Given the description of an element on the screen output the (x, y) to click on. 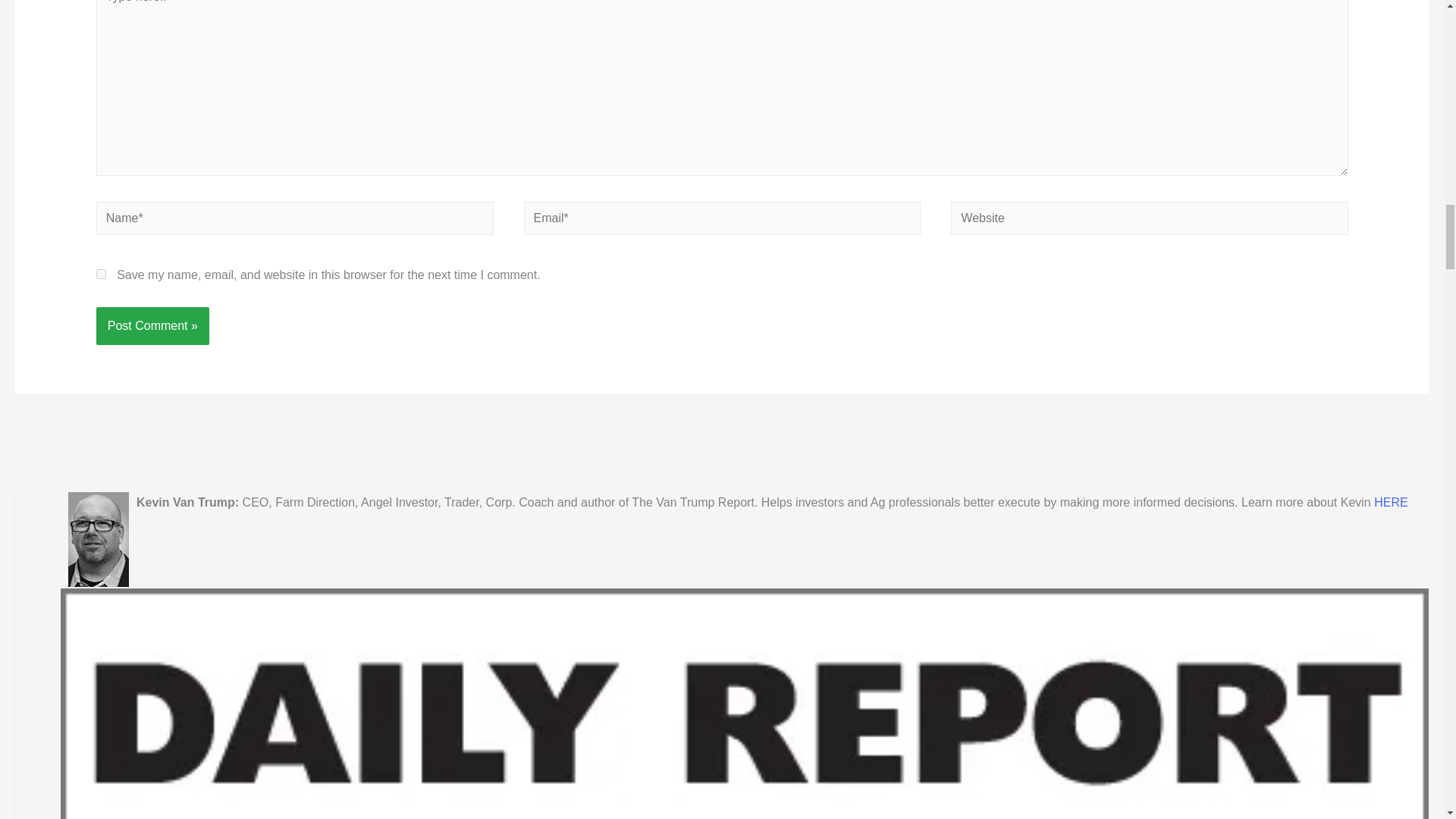
yes (101, 274)
HERE (1390, 502)
